Given the description of an element on the screen output the (x, y) to click on. 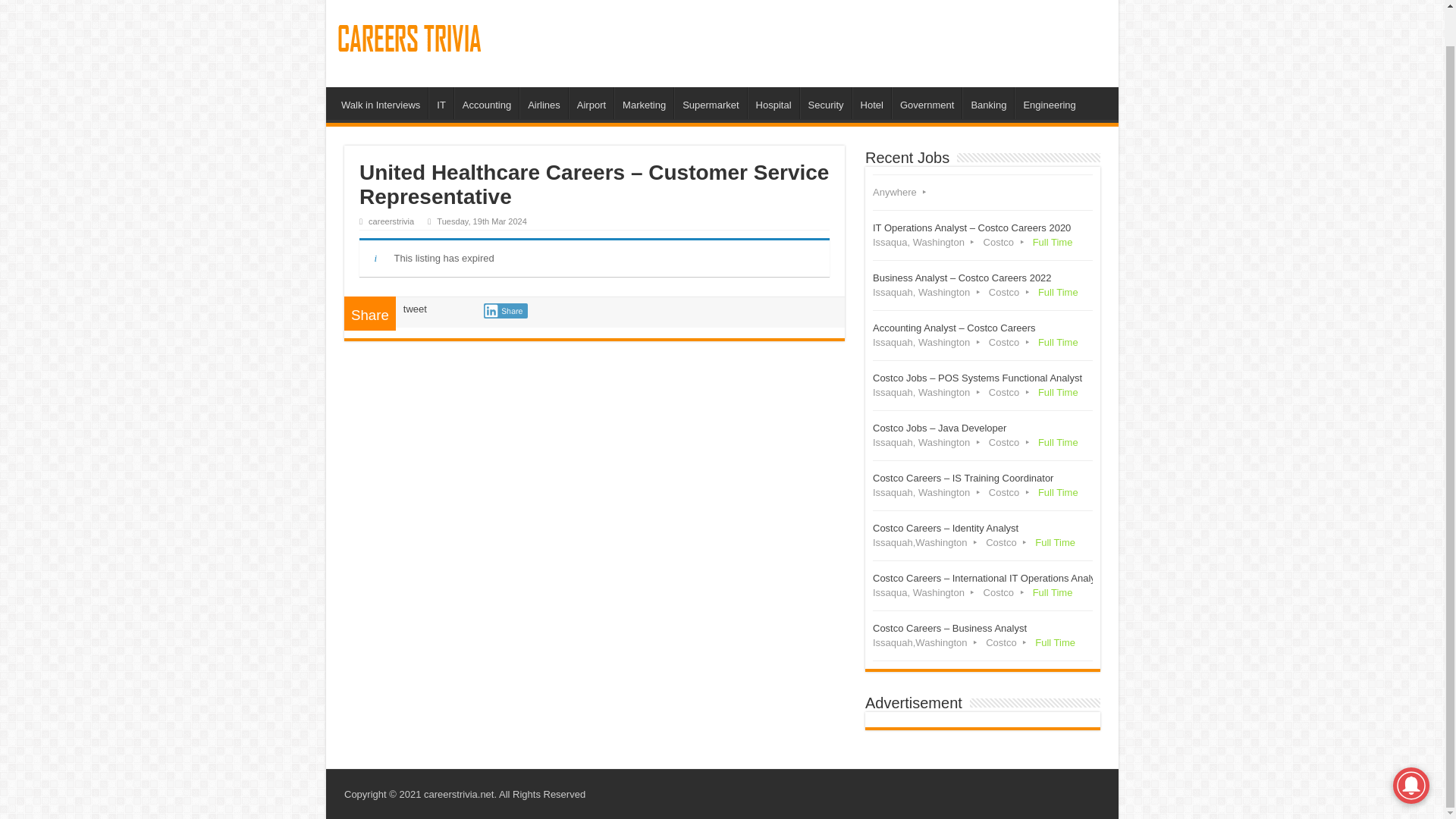
Supermarket (709, 102)
tweet (414, 308)
Anywhere (982, 192)
Walk in Interviews (380, 102)
Government (926, 102)
Engineering (1048, 102)
Airport (590, 102)
Hospital (773, 102)
Banking (987, 102)
Airlines (543, 102)
Share (505, 310)
Accounting (486, 102)
Hotel (871, 102)
careerstrivia (390, 221)
Marketing (643, 102)
